Given the description of an element on the screen output the (x, y) to click on. 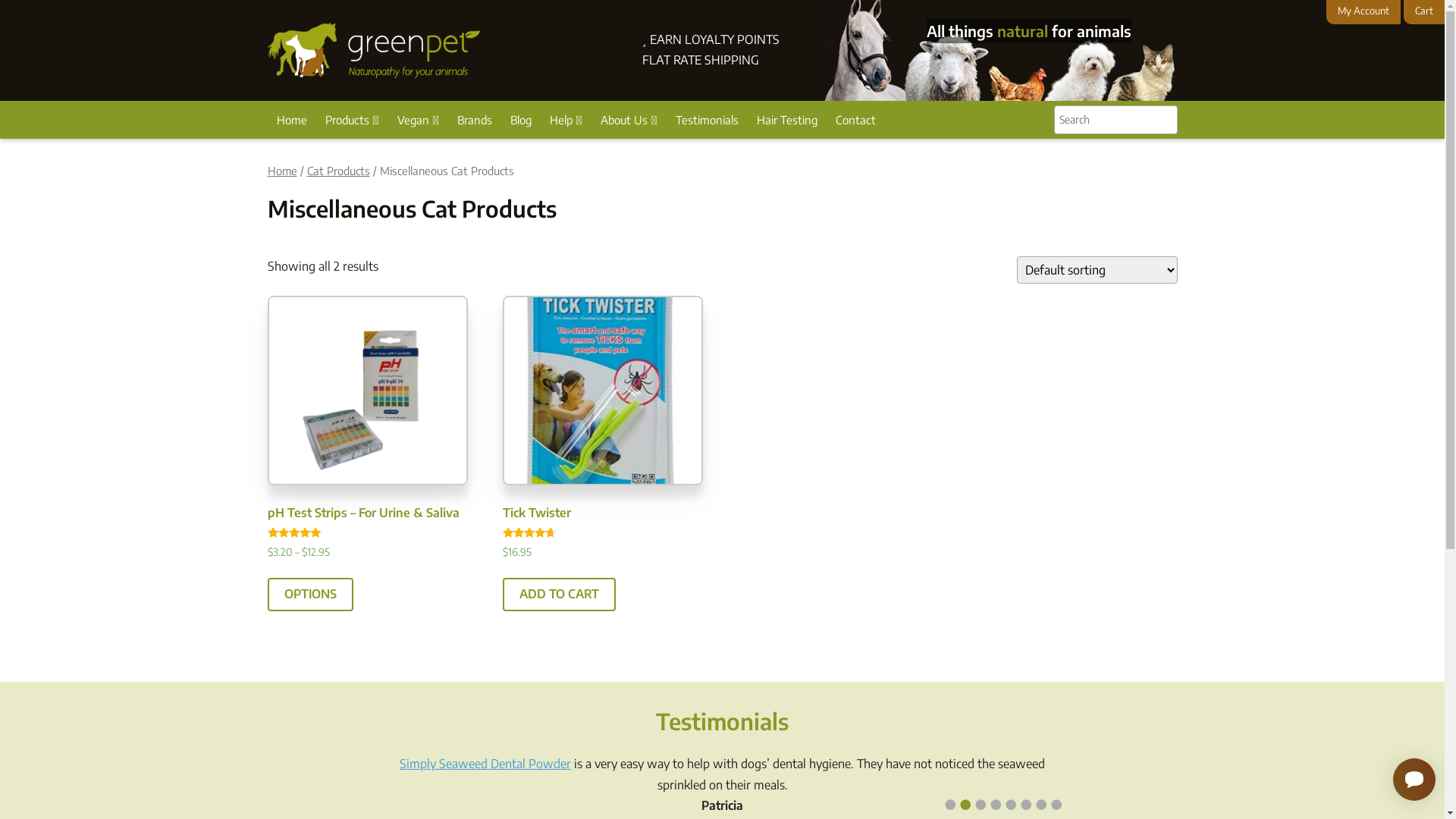
Tick Twister
Rated
out of 5
$16.95 Element type: text (602, 448)
About Us Element type: text (628, 119)
Vegan Element type: text (418, 119)
Simply Seaweed Dental Powder Element type: text (485, 763)
ADD TO CART Element type: text (558, 593)
Cat Products Element type: text (337, 170)
FLAT RATE SHIPPING Element type: text (700, 59)
Help Element type: text (564, 119)
OPTIONS Element type: text (309, 593)
Brands Element type: text (473, 119)
Home Element type: text (281, 170)
Smartsupp widget button Element type: hover (1414, 779)
Naturopathy for Animals Element type: hover (372, 50)
Contact Element type: text (855, 119)
Blog Element type: text (519, 119)
Hair Testing Element type: text (786, 119)
EARN LOYALTY POINTS Element type: text (710, 39)
Products Element type: text (351, 119)
Home Element type: text (290, 119)
Testimonials Element type: text (705, 119)
